Given the description of an element on the screen output the (x, y) to click on. 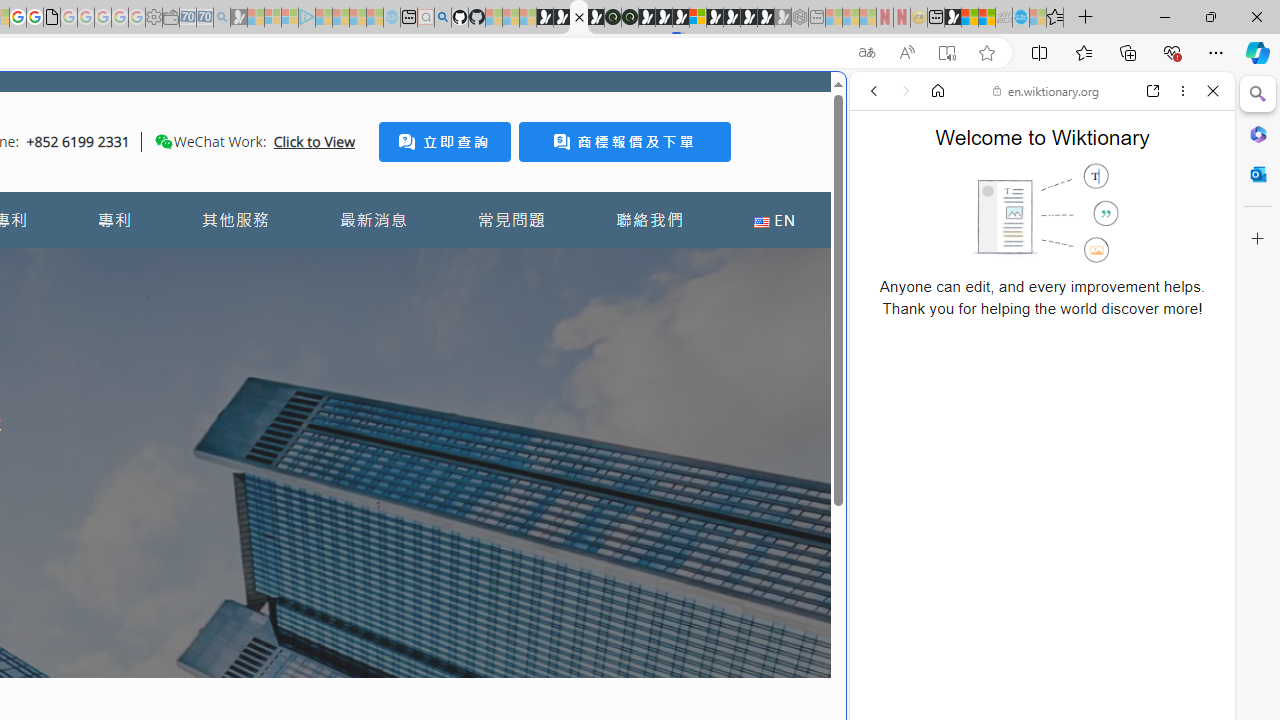
Enter Immersive Reader (F9) (946, 53)
SEARCH TOOLS (1093, 228)
Bing Real Estate - Home sales and rental listings - Sleeping (221, 17)
Sign in to your account (697, 17)
